Given the description of an element on the screen output the (x, y) to click on. 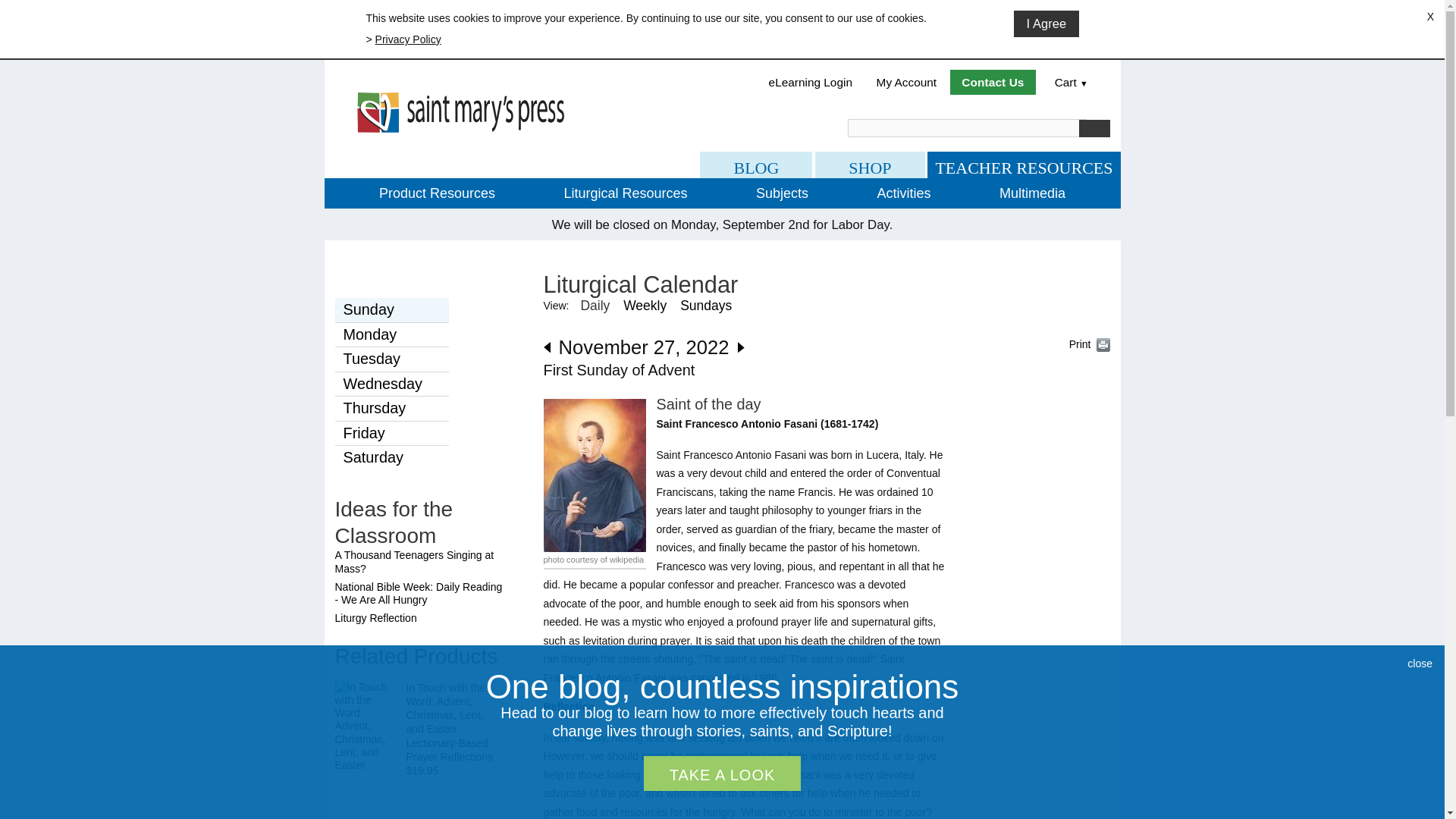
BLOG (756, 164)
Contact Us (992, 81)
SHOP (869, 164)
I Agree (1045, 23)
eLearning Login (810, 82)
My Account (906, 82)
Privacy Policy (408, 39)
TEACHER RESOURCES (1023, 164)
Product Resources (436, 193)
